Given the description of an element on the screen output the (x, y) to click on. 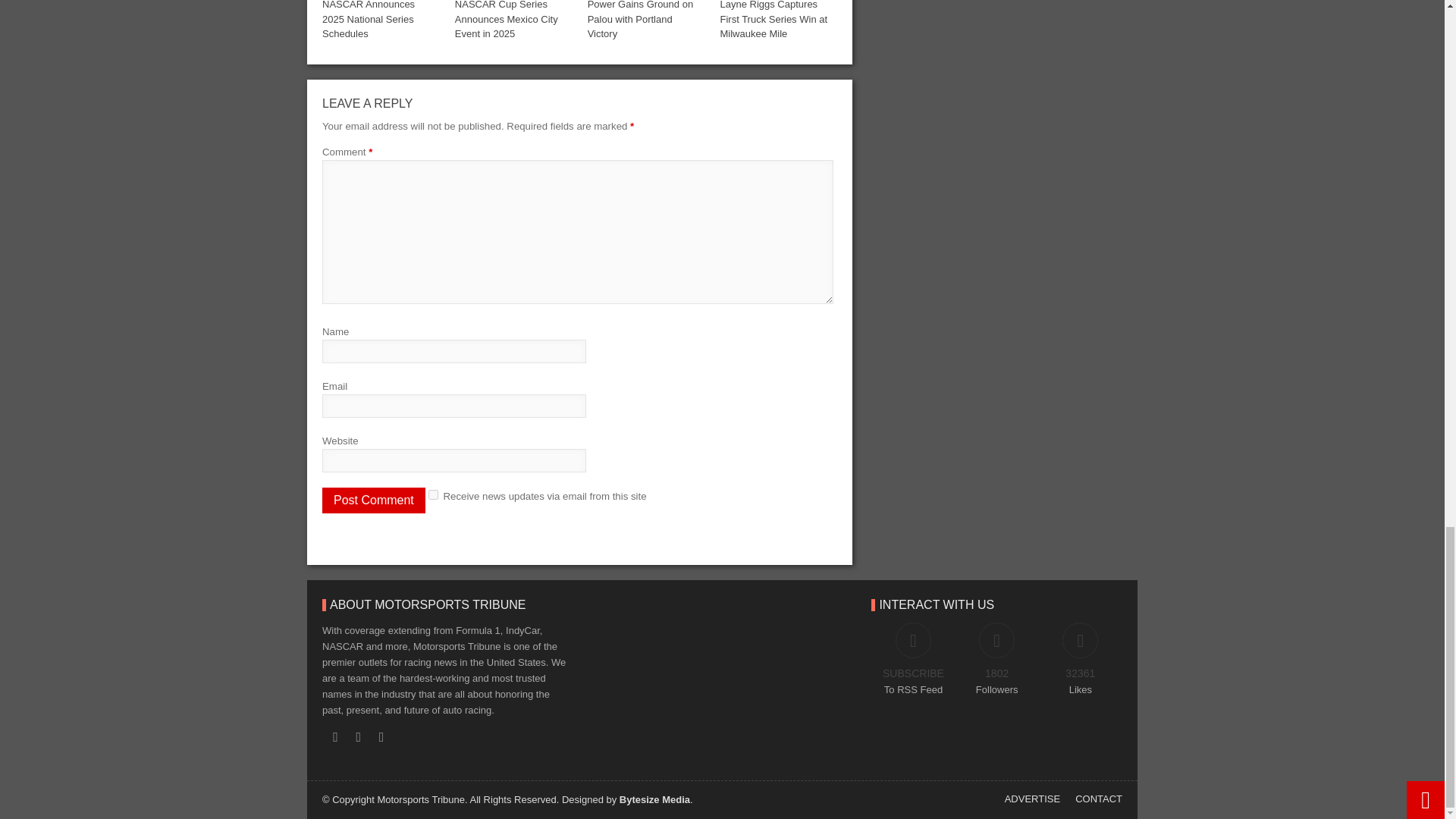
1 (433, 494)
NASCAR Cup Series Announces Mexico City Event in 2025 (505, 19)
NASCAR Announces 2025 National Series Schedules (367, 19)
Post Comment (373, 500)
Power Gains Ground on Palou with Portland Victory (640, 19)
